Given the description of an element on the screen output the (x, y) to click on. 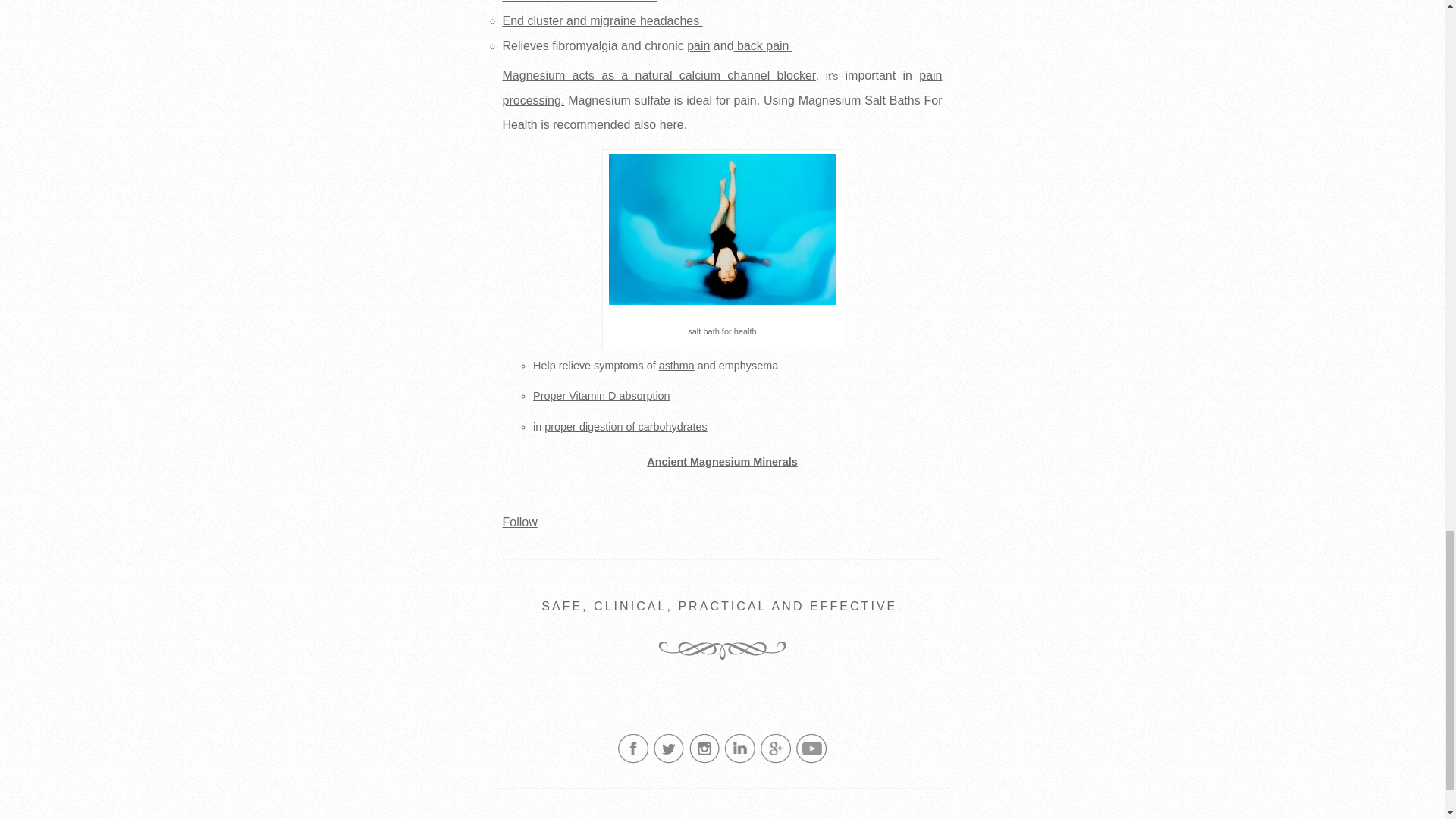
asthma (676, 365)
Susannah Makram on Twitter (668, 759)
Susannah Makram on Linked In (740, 759)
Follow (519, 521)
pain processing. (722, 87)
Susannah Makram on Facebook (632, 759)
back pain  (762, 45)
Magnesium acts as a natural calcium channel blocker (658, 74)
Ancient Magnesium Minerals (721, 461)
End cluster and migraine headaches  (601, 20)
Susannah Makram on Google Plus (775, 759)
Decreases insulin resistance (579, 1)
pain (698, 45)
Susannah Makram on Instagram (703, 759)
Proper Vitamin D absorption (600, 395)
